Given the description of an element on the screen output the (x, y) to click on. 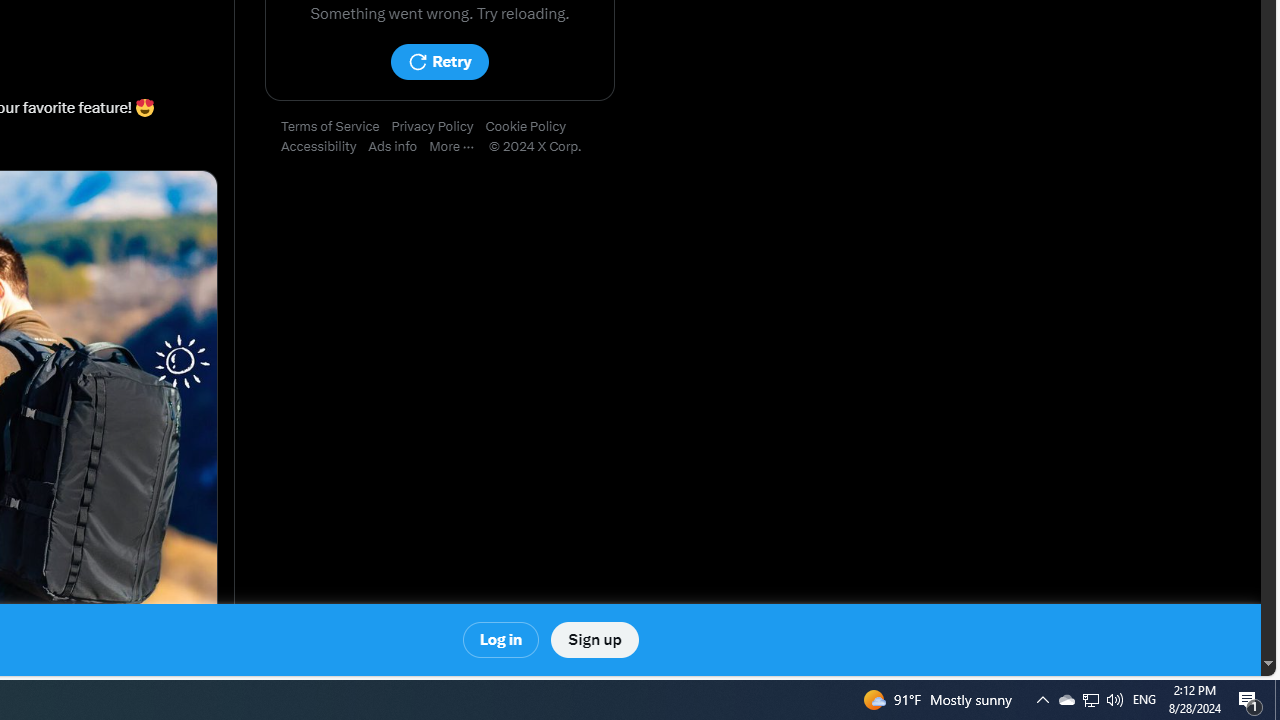
Sign up (594, 640)
Accessibility (324, 147)
Cookie Policy (531, 127)
Terms of Service (336, 127)
More (458, 147)
Retry (439, 61)
Log in (501, 640)
Ads info (399, 147)
Privacy Policy (438, 127)
